Given the description of an element on the screen output the (x, y) to click on. 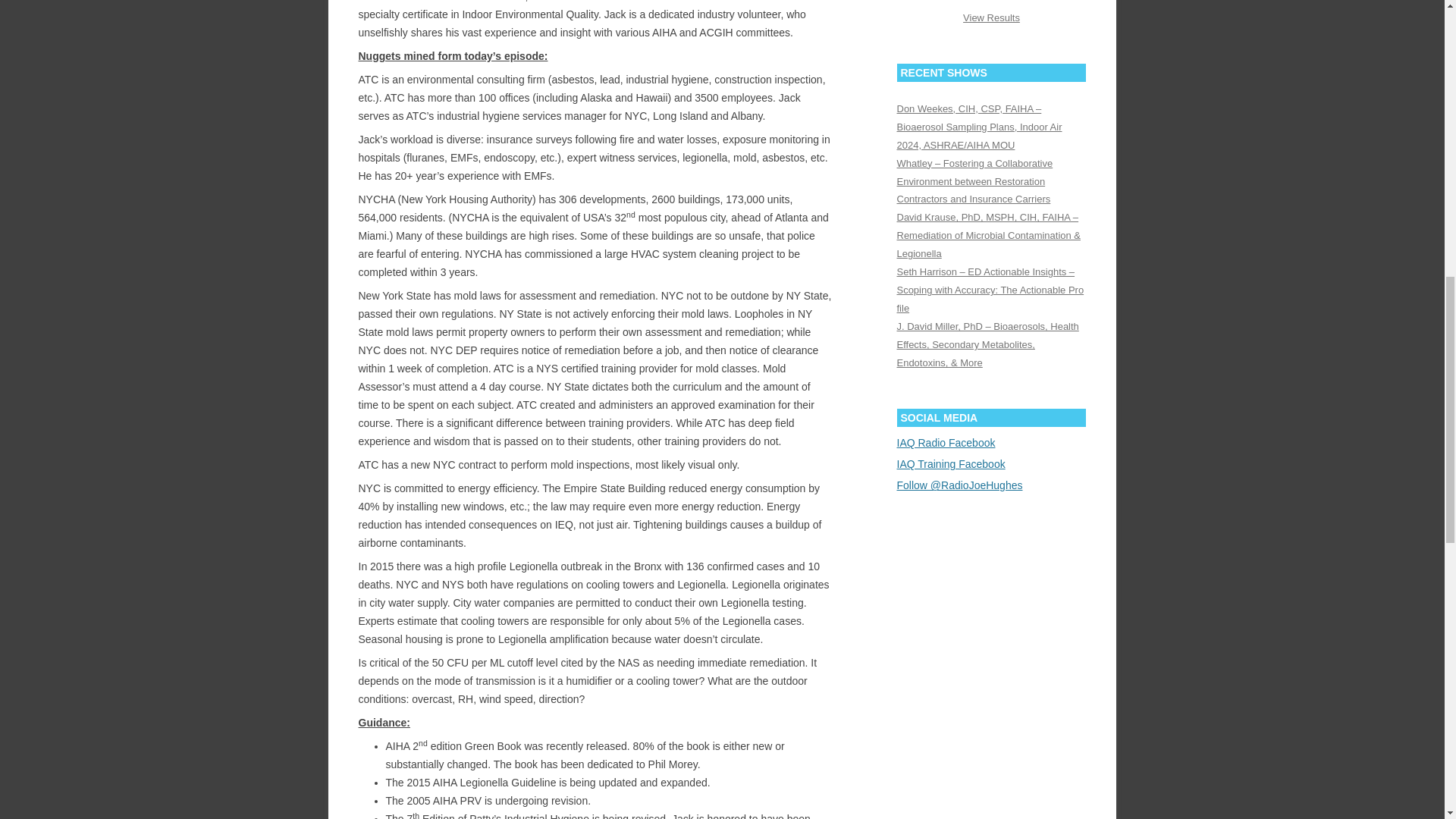
IAQ Training Facebook (950, 463)
IAQ Radio Facebook (945, 442)
View Results Of This Poll (991, 17)
View Results (991, 17)
